Given the description of an element on the screen output the (x, y) to click on. 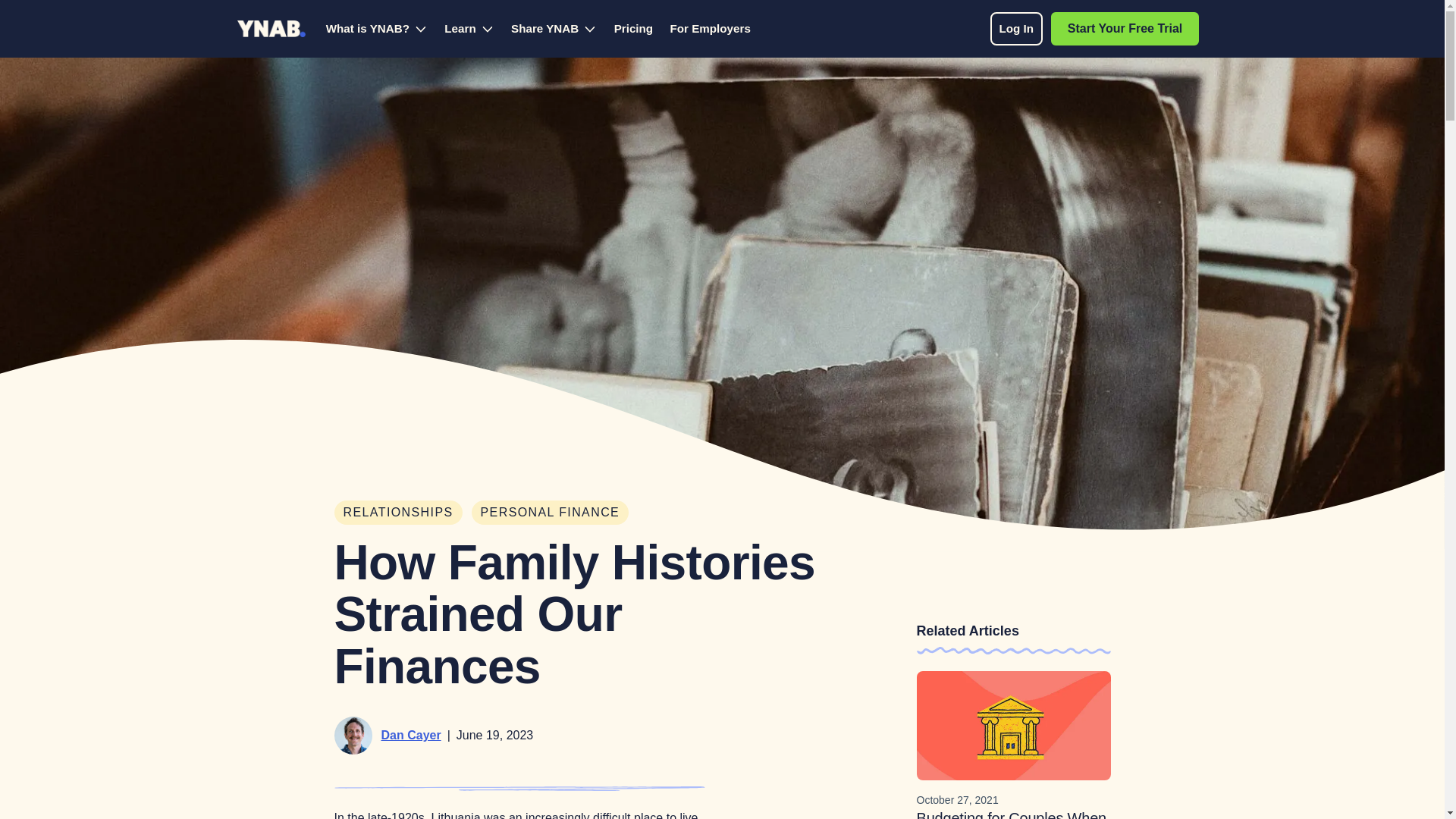
Pricing (633, 28)
Start Your Free Trial (1124, 28)
Log In (1016, 28)
For Employers (1094, 28)
PERSONAL FINANCE (710, 28)
RELATIONSHIPS (549, 512)
